Given the description of an element on the screen output the (x, y) to click on. 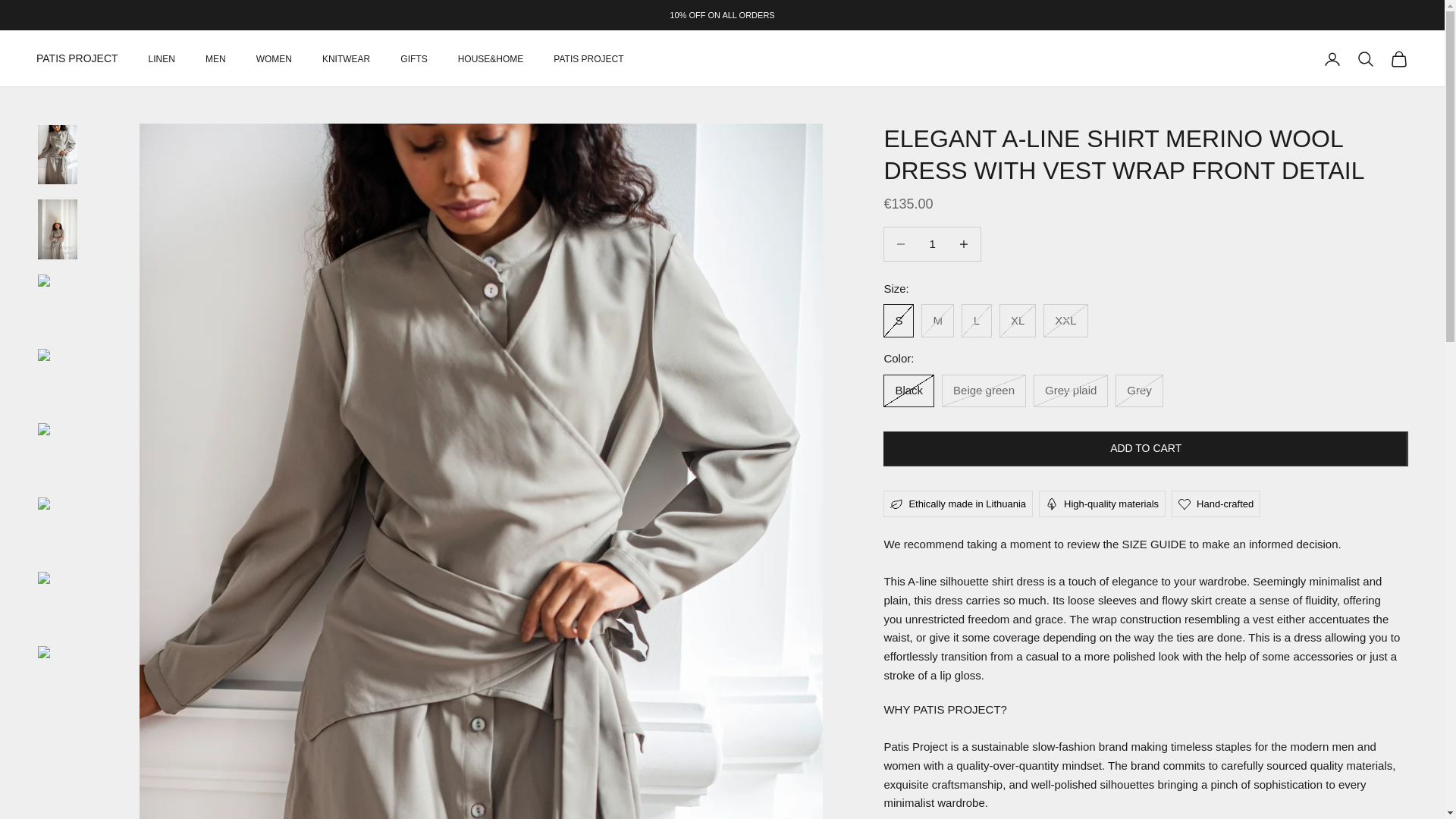
LINEN (161, 58)
Open search (1365, 58)
Open cart (1398, 58)
KNITWEAR (345, 58)
1 (932, 243)
GIFTS (413, 58)
PATIS PROJECT (76, 58)
